Given the description of an element on the screen output the (x, y) to click on. 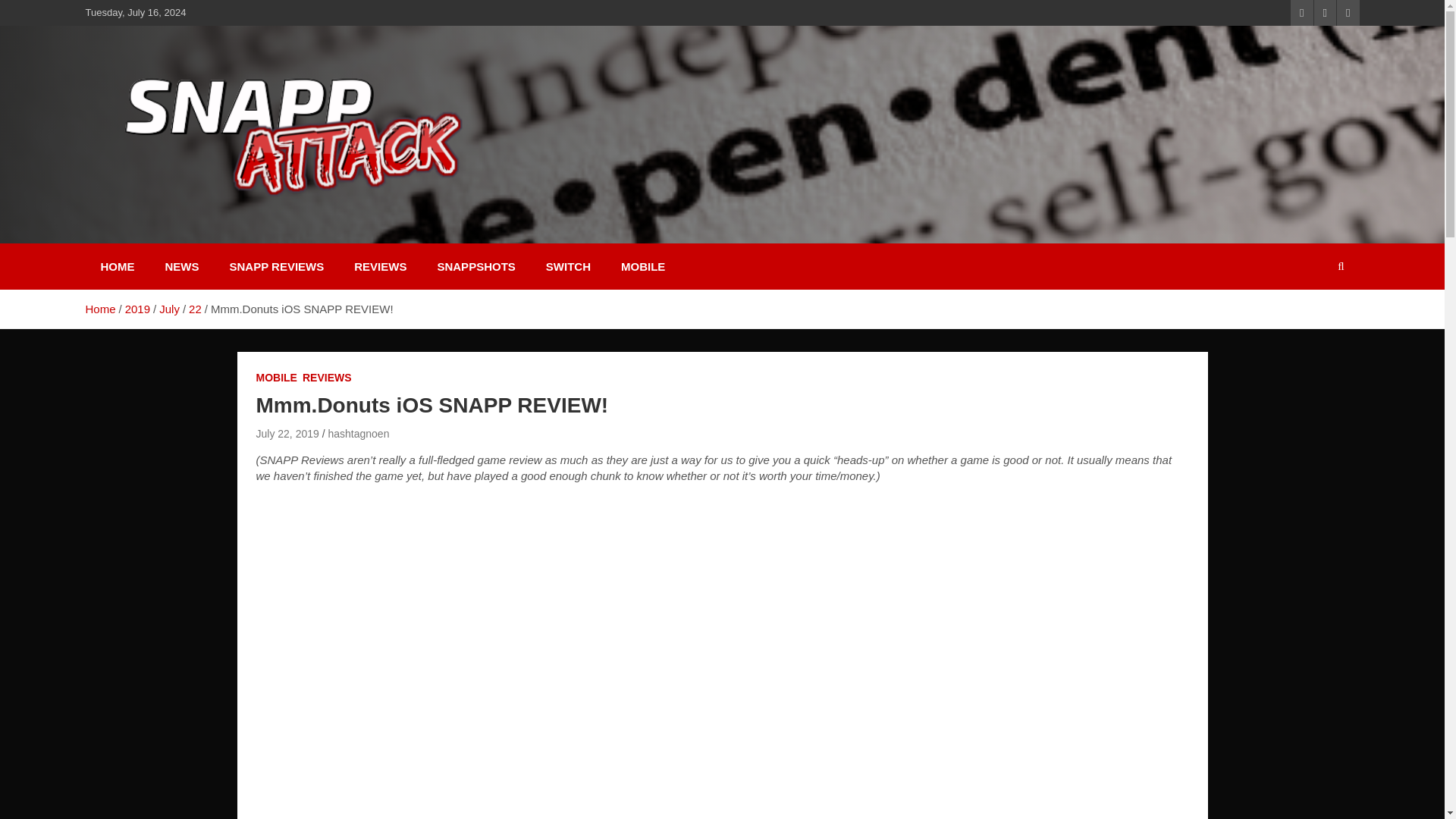
hashtagnoen (357, 433)
22 (195, 308)
MOBILE (642, 266)
REVIEWS (327, 378)
SWITCH (568, 266)
SNAPP REVIEWS (276, 266)
NEWS (181, 266)
MOBILE (276, 378)
HOME (116, 266)
REVIEWS (380, 266)
July (168, 308)
Mmm.Donuts iOS SNAPP REVIEW! (287, 433)
Home (99, 308)
July 22, 2019 (287, 433)
